Given the description of an element on the screen output the (x, y) to click on. 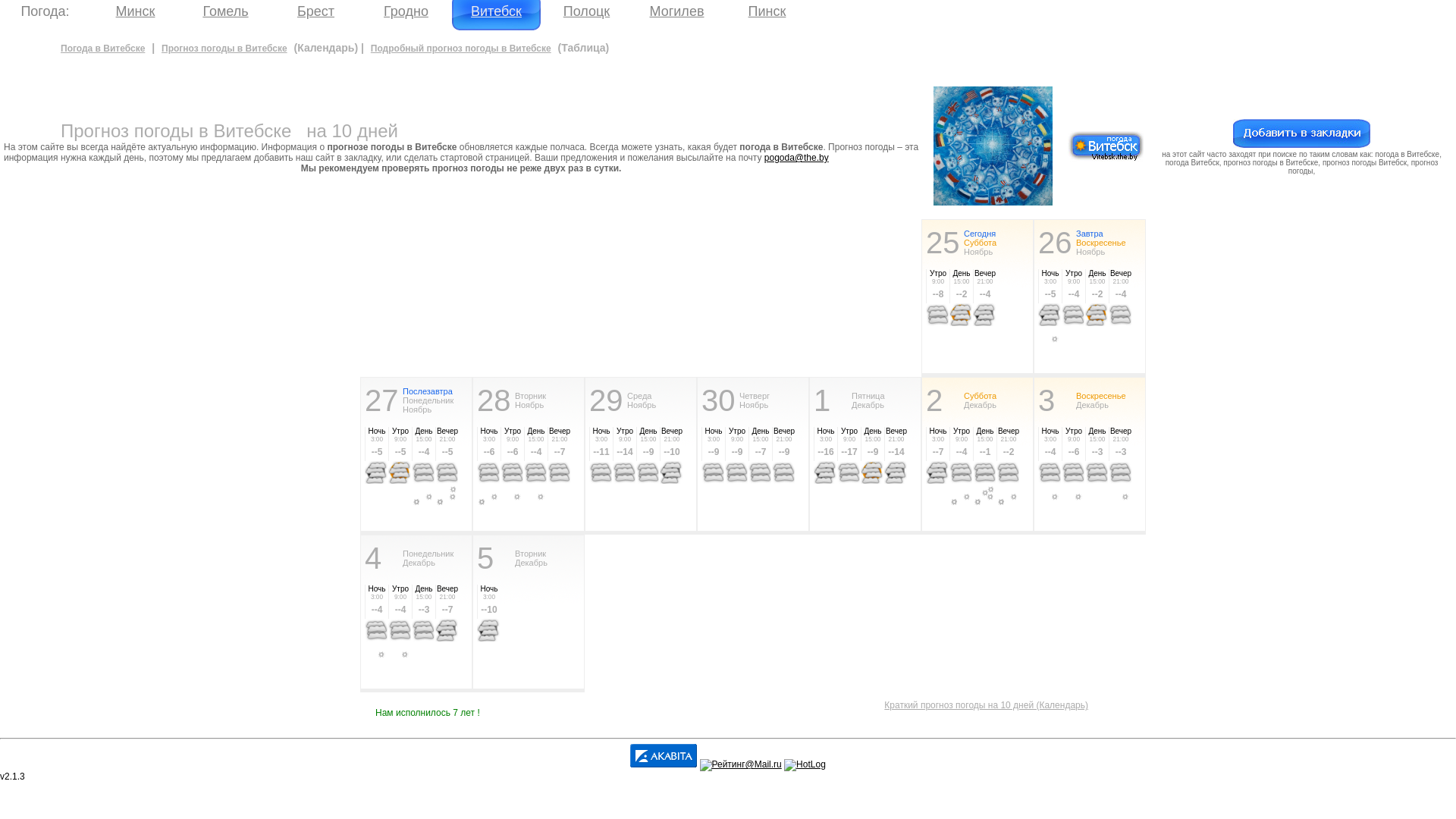
pogoda@the.by Element type: text (796, 157)
